Given the description of an element on the screen output the (x, y) to click on. 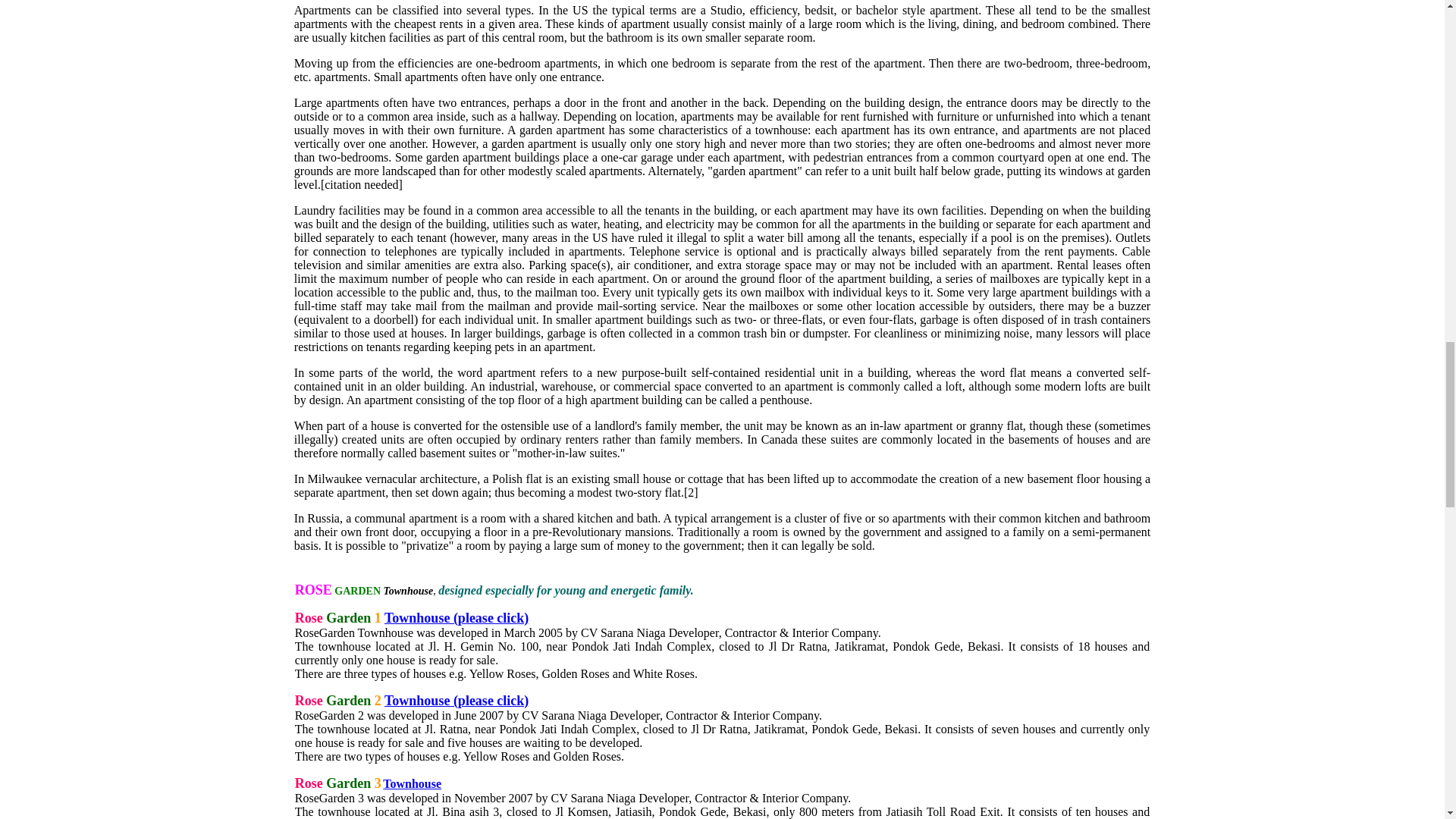
Townhouse (411, 783)
